Given the description of an element on the screen output the (x, y) to click on. 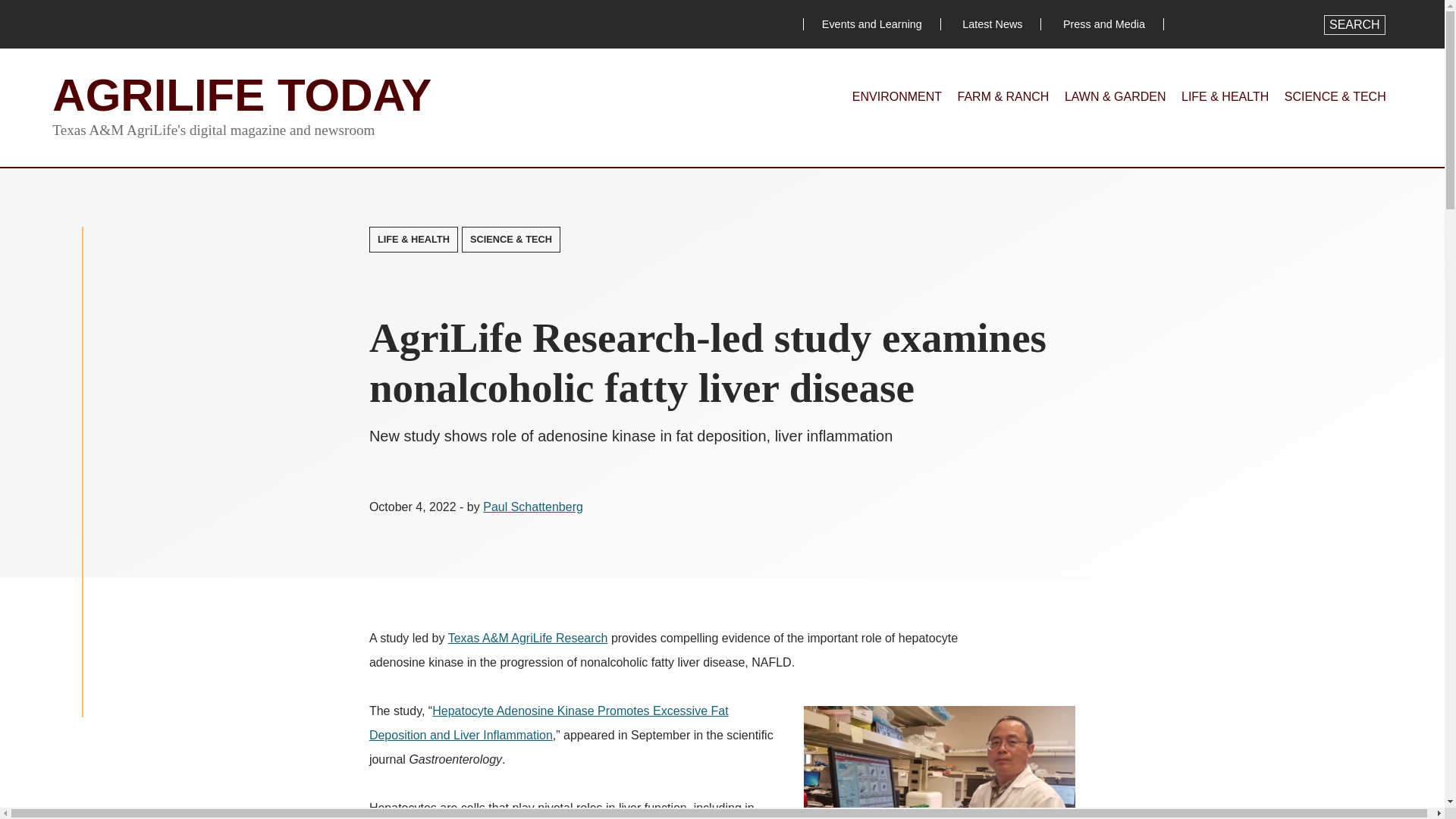
Events and Learning (871, 24)
Search (1354, 25)
Press and Media (1104, 24)
Posts by Paul Schattenberg (533, 506)
Search (1354, 25)
ENVIRONMENT (896, 96)
AGRILIFE TODAY (241, 94)
Search (1354, 25)
Paul Schattenberg (533, 506)
Latest News (992, 24)
